Given the description of an element on the screen output the (x, y) to click on. 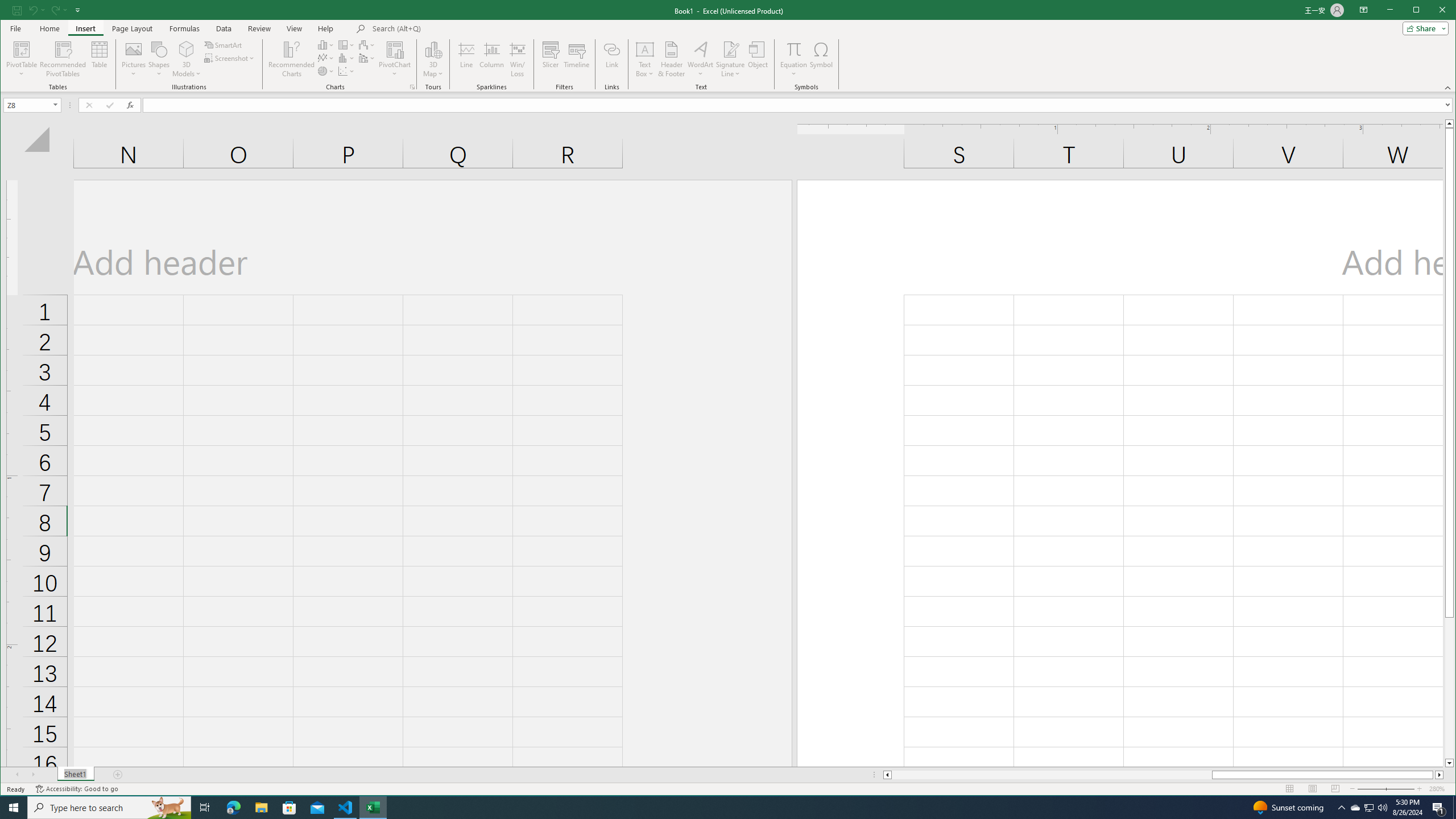
Insert Combo Chart (366, 57)
Insert Column or Bar Chart (1368, 807)
Table (325, 44)
3D Map (99, 59)
Task View (432, 59)
